Given the description of an element on the screen output the (x, y) to click on. 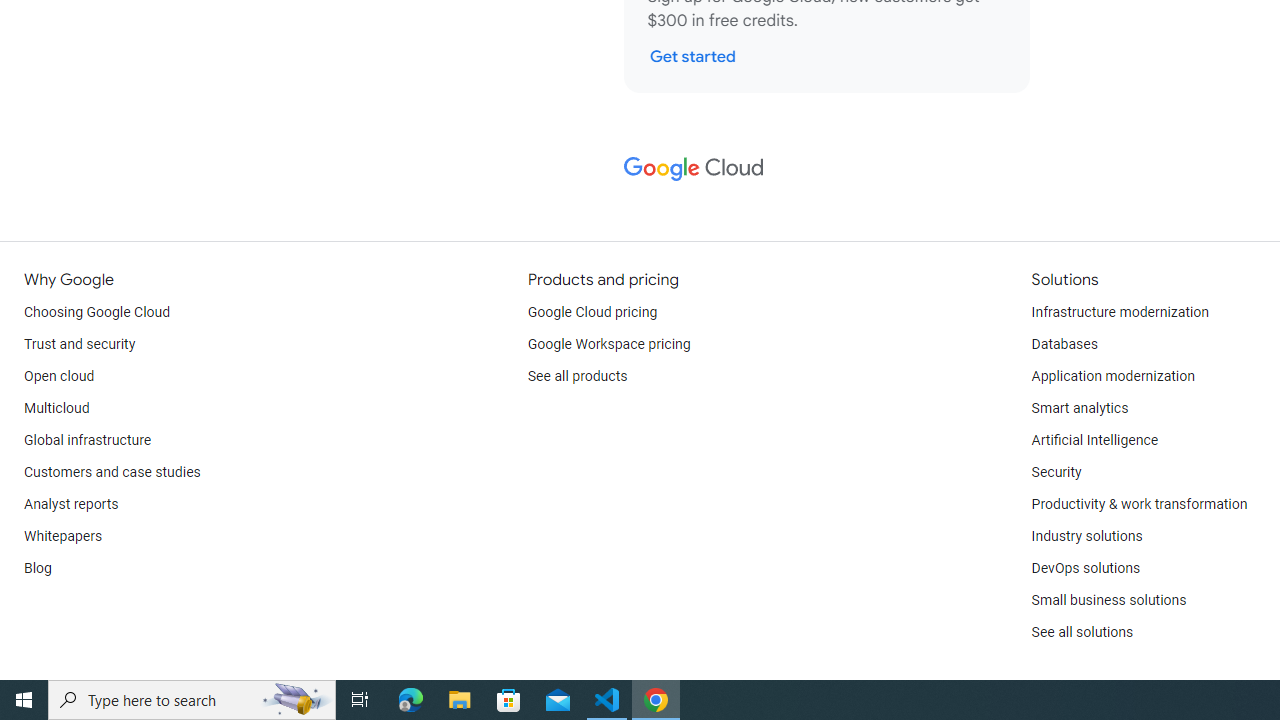
Artificial Intelligence (1094, 440)
Smart analytics (1079, 408)
See all products (577, 376)
Google Cloud pricing (592, 312)
Application modernization (1112, 376)
Industry solutions (1086, 536)
Productivity & work transformation (1139, 504)
Multicloud (56, 408)
Global infrastructure (88, 440)
Trust and security (79, 344)
Google Workspace pricing (609, 344)
Small business solutions (1108, 600)
Infrastructure modernization (1119, 312)
Databases (1064, 344)
